Given the description of an element on the screen output the (x, y) to click on. 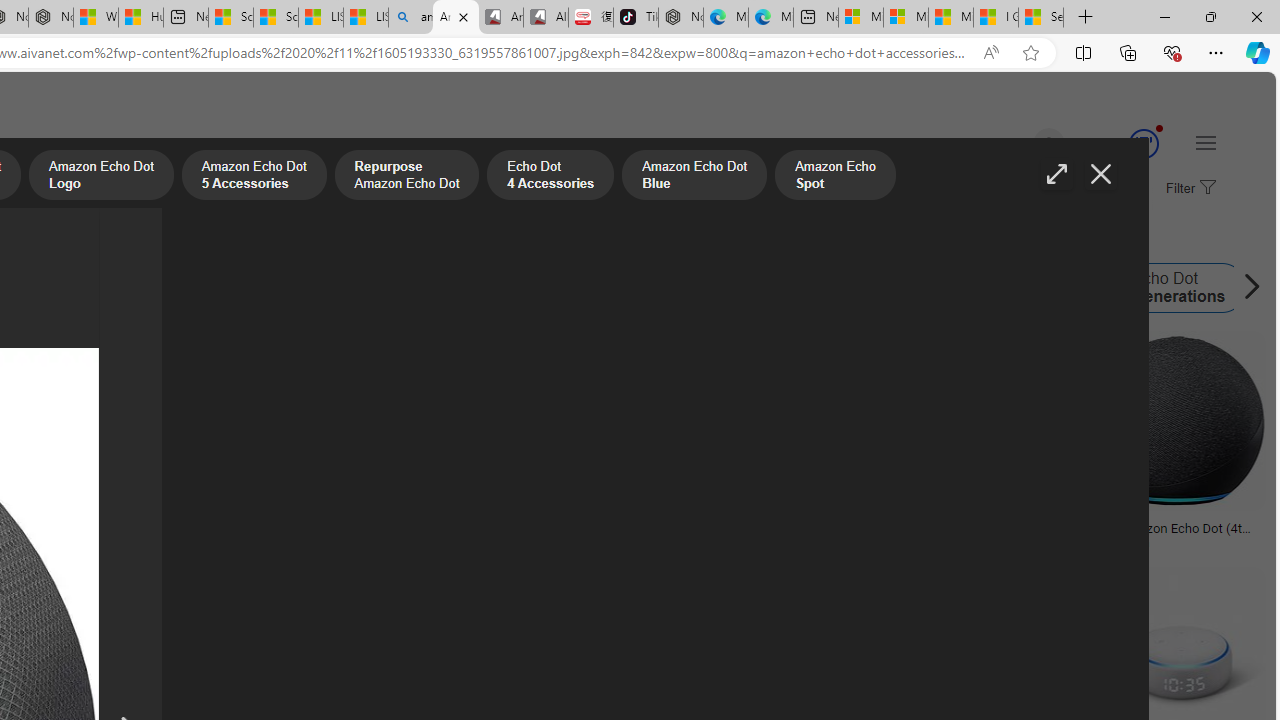
TikTok (635, 17)
Class: item col (1161, 287)
Alexa Echo Png Pic Png Arts Images (342, 528)
Amazon Echo Dot 4th Gen (102, 287)
I Gained 20 Pounds of Muscle in 30 Days! | Watch (995, 17)
Image result for Amazon Echo Dot PNG (1175, 421)
Filter (1188, 189)
Amazon Echo Dot 5 Accessories (253, 177)
Amazon Echo Dot Png 542 Download (96, 534)
